Given the description of an element on the screen output the (x, y) to click on. 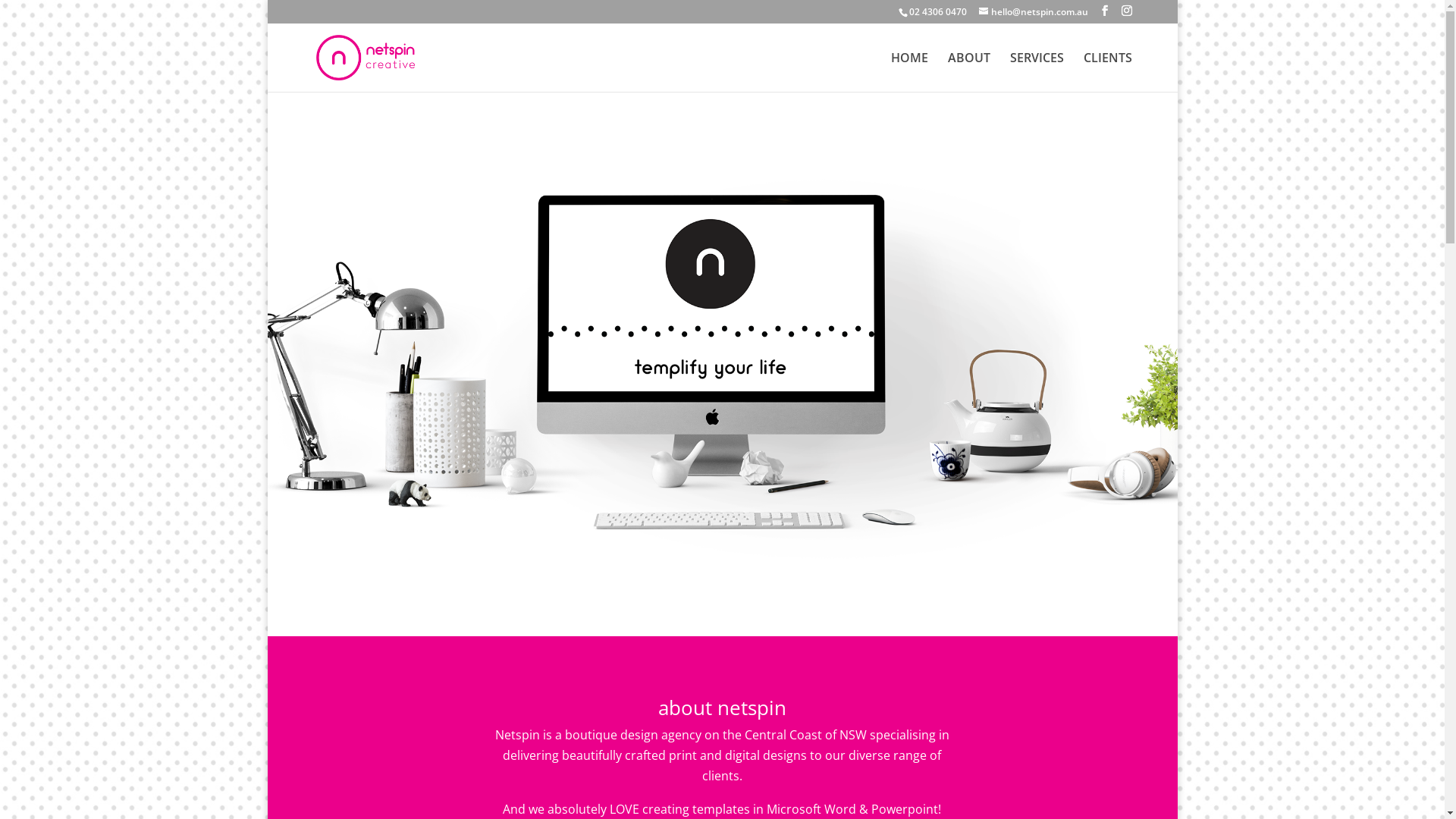
HOME Element type: text (908, 71)
ABOUT Element type: text (968, 71)
hello@netspin.com.au Element type: text (1032, 11)
SERVICES Element type: text (1036, 71)
CLIENTS Element type: text (1106, 71)
